Given the description of an element on the screen output the (x, y) to click on. 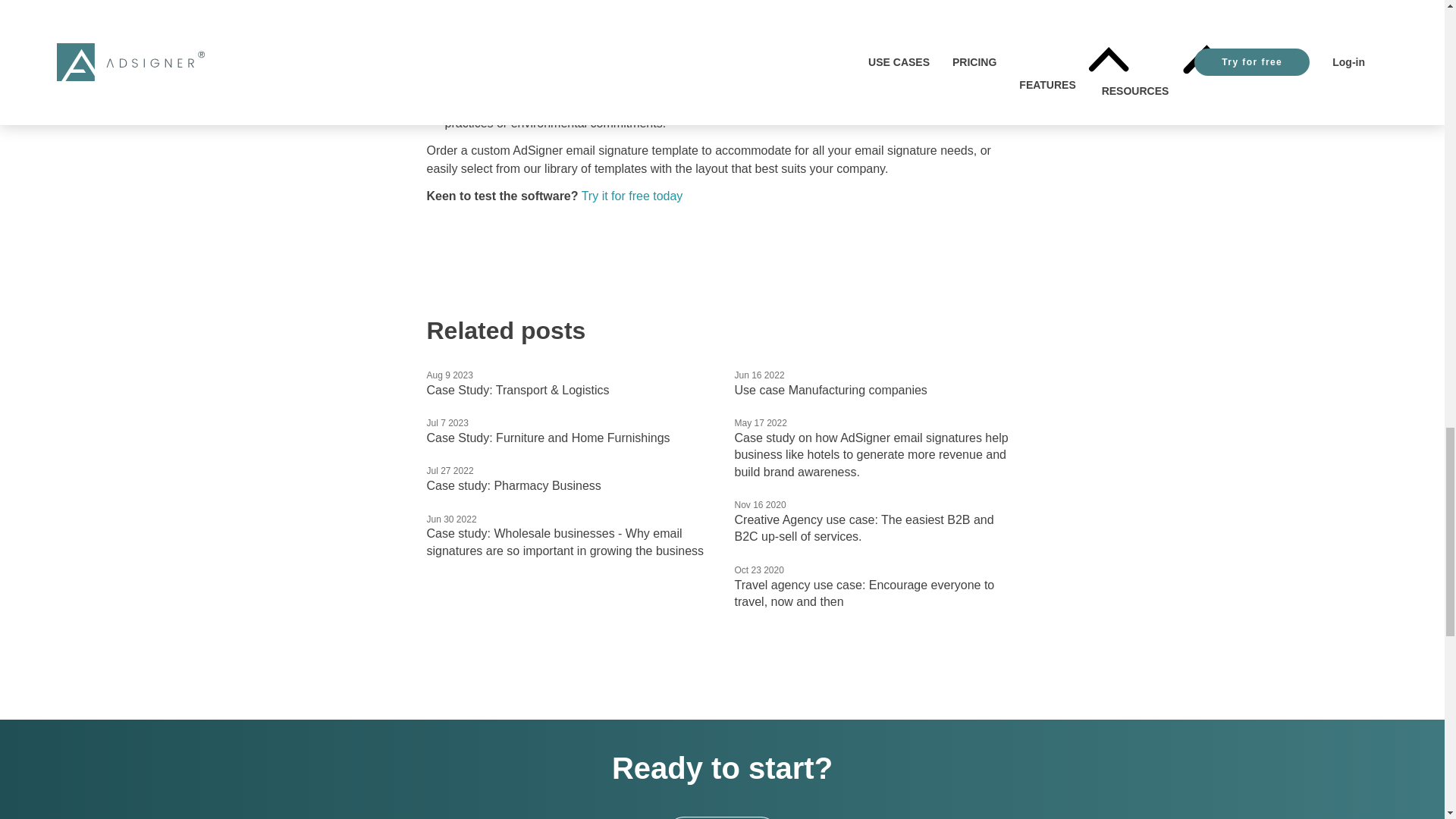
Use case Manufacturing companies (829, 390)
Try it for free today (631, 195)
Case study: Pharmacy Business (512, 485)
Try for free (720, 817)
Case Study: Furniture and Home Furnishings (547, 437)
